Given the description of an element on the screen output the (x, y) to click on. 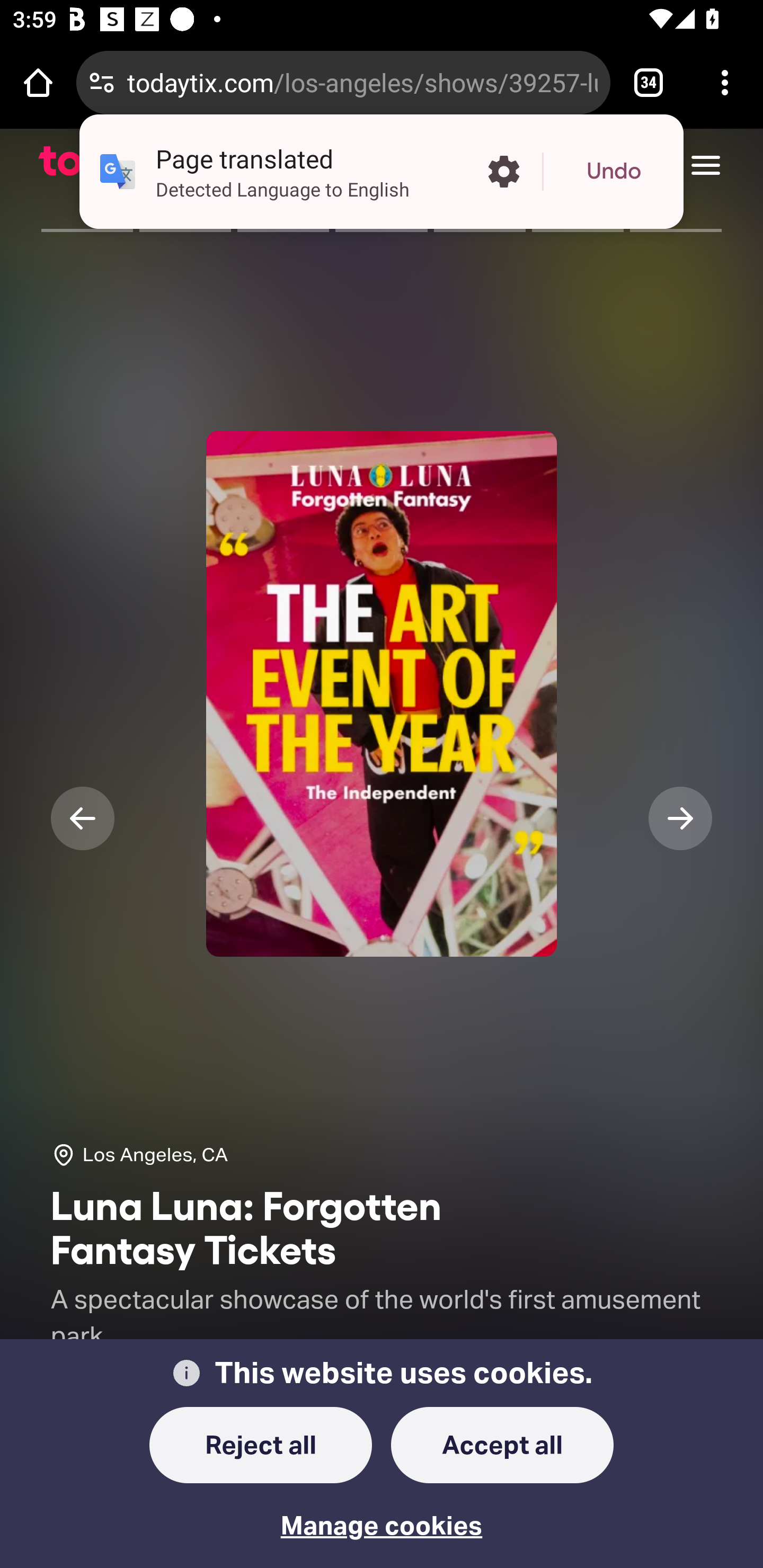
Open the home page (38, 82)
Connection is secure (101, 82)
Switch or close tabs (648, 82)
Customize and control Google Chrome (724, 82)
Undo (613, 171)
More options in the Page translated (503, 171)
